Given the description of an element on the screen output the (x, y) to click on. 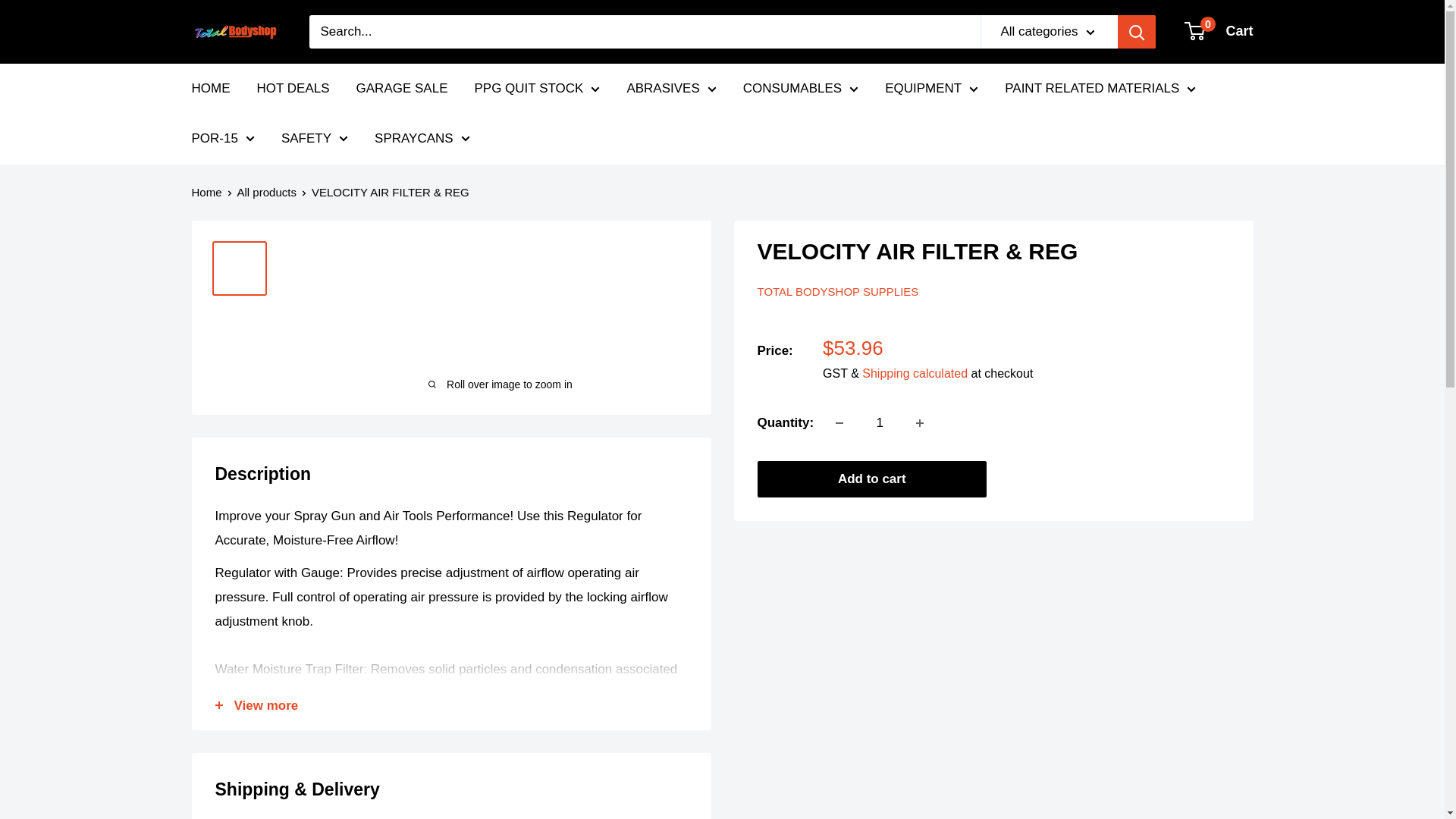
Decrease quantity by 1 (840, 422)
Increase quantity by 1 (920, 422)
1 (880, 422)
